Given the description of an element on the screen output the (x, y) to click on. 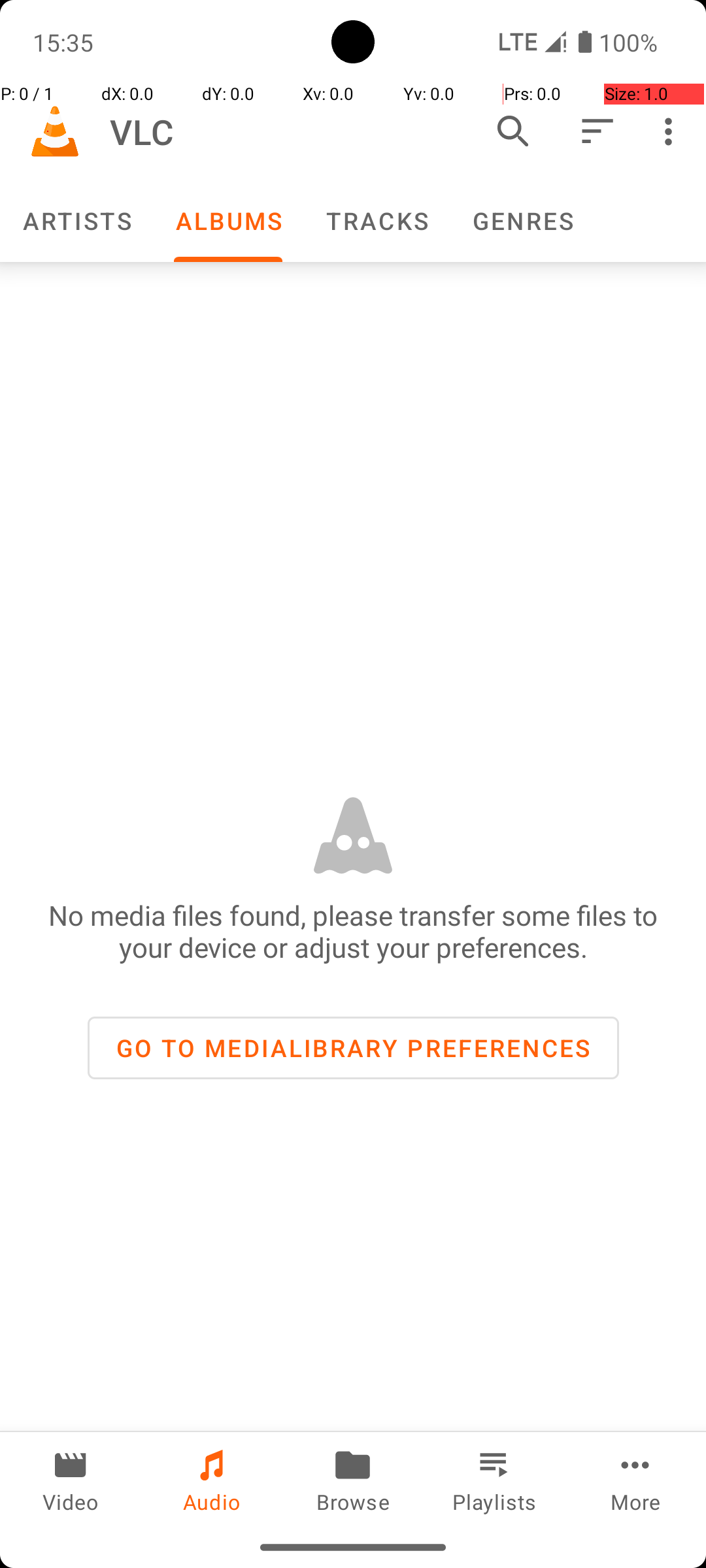
GO TO MEDIALIBRARY PREFERENCES Element type: android.widget.Button (353, 1047)
